Given the description of an element on the screen output the (x, y) to click on. 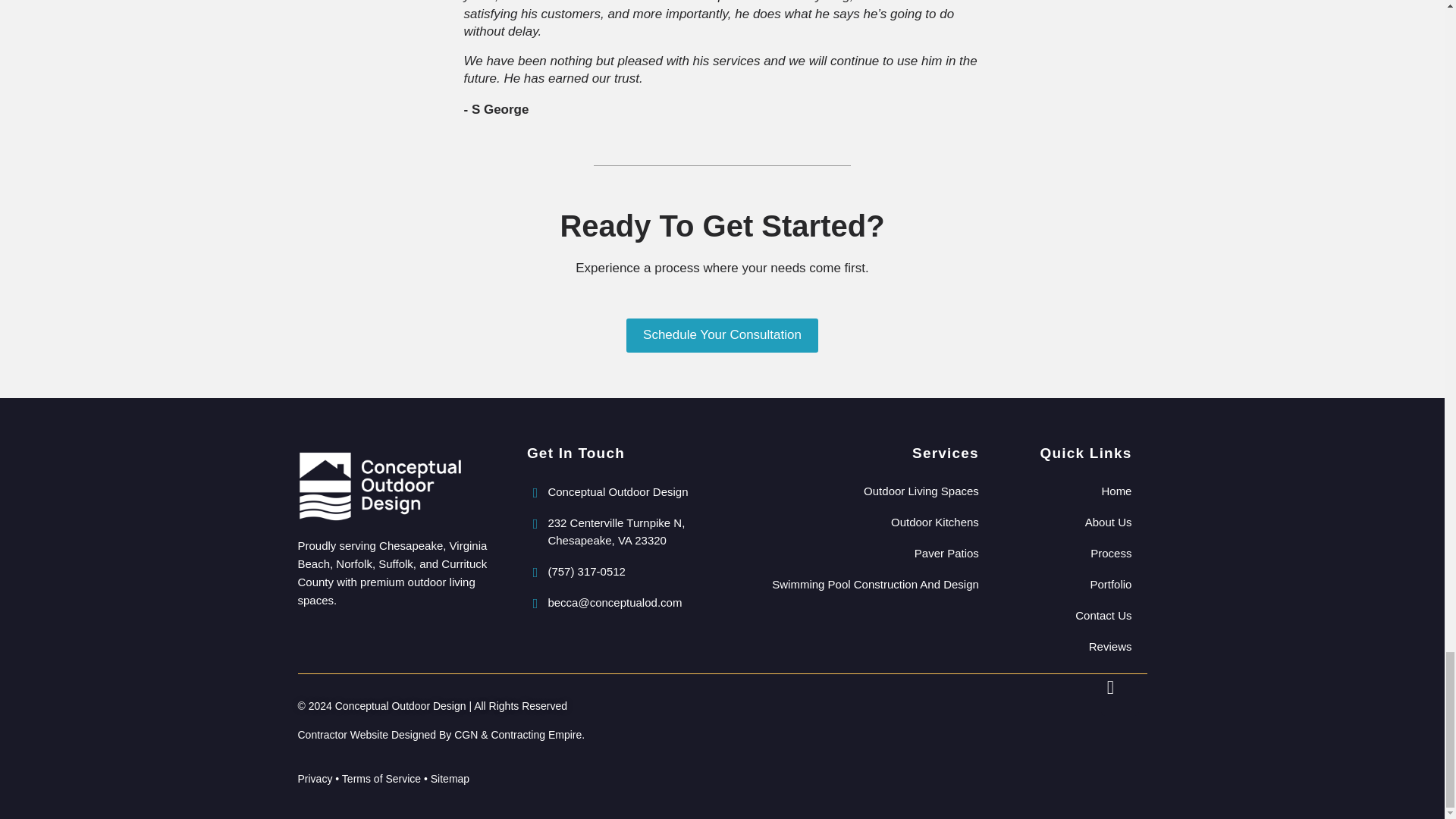
Contact Us (1070, 614)
Process (1070, 552)
Schedule Your Consultation (722, 335)
Outdoor Kitchens (857, 521)
About Us (1070, 521)
Paver Patios (857, 552)
Portfolio (1070, 583)
Reviews (1070, 645)
Outdoor Living Spaces (857, 490)
Swimming Pool Construction And Design (857, 583)
Home (1070, 490)
